Given the description of an element on the screen output the (x, y) to click on. 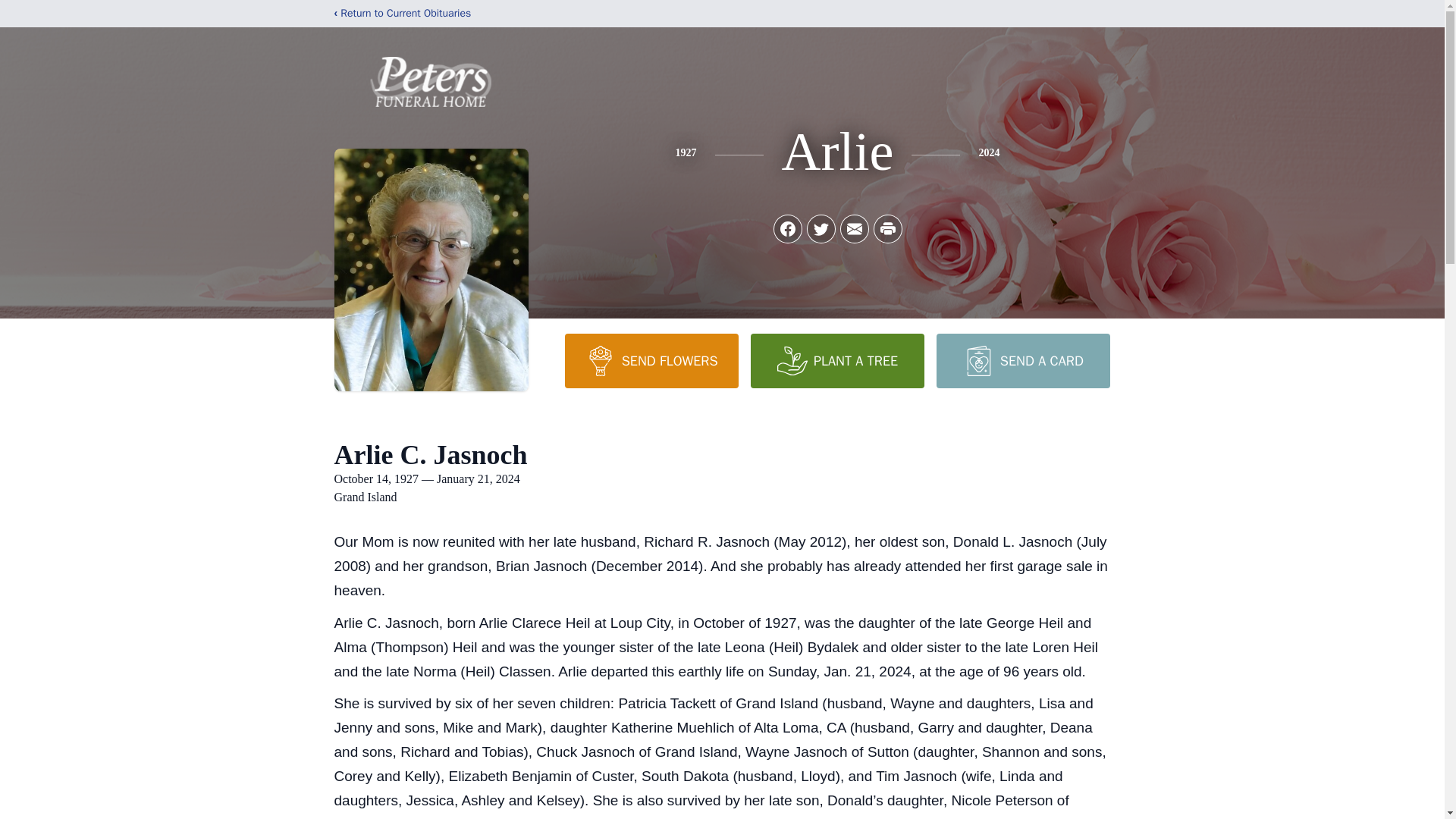
SEND FLOWERS (651, 360)
SEND A CARD (1022, 360)
PLANT A TREE (837, 360)
